Given the description of an element on the screen output the (x, y) to click on. 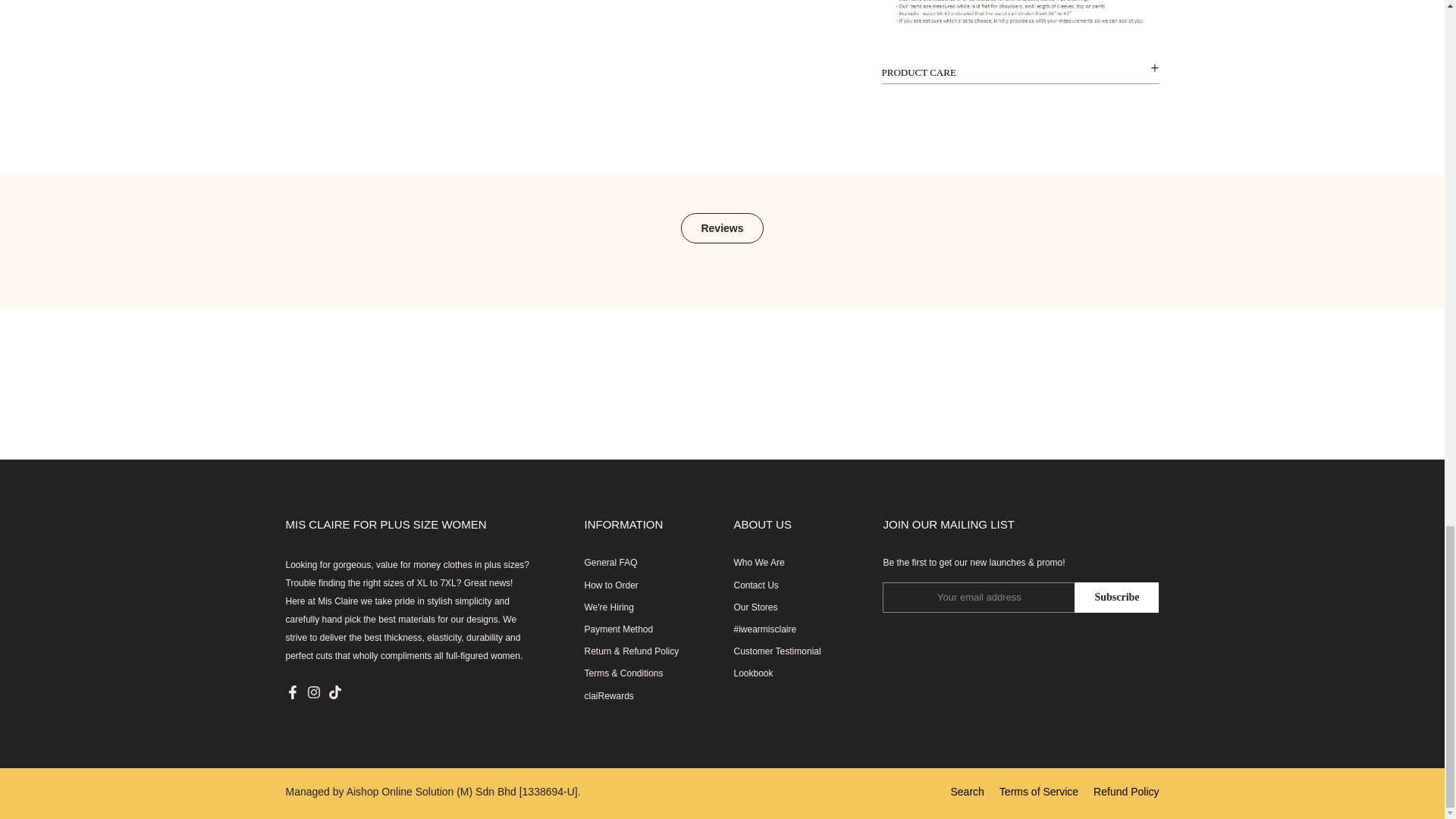
Payment Method (617, 629)
Reviews (721, 227)
PRODUCT CARE (1019, 73)
General FAQ (610, 562)
We're Hiring (608, 606)
How to Order (610, 584)
